Given the description of an element on the screen output the (x, y) to click on. 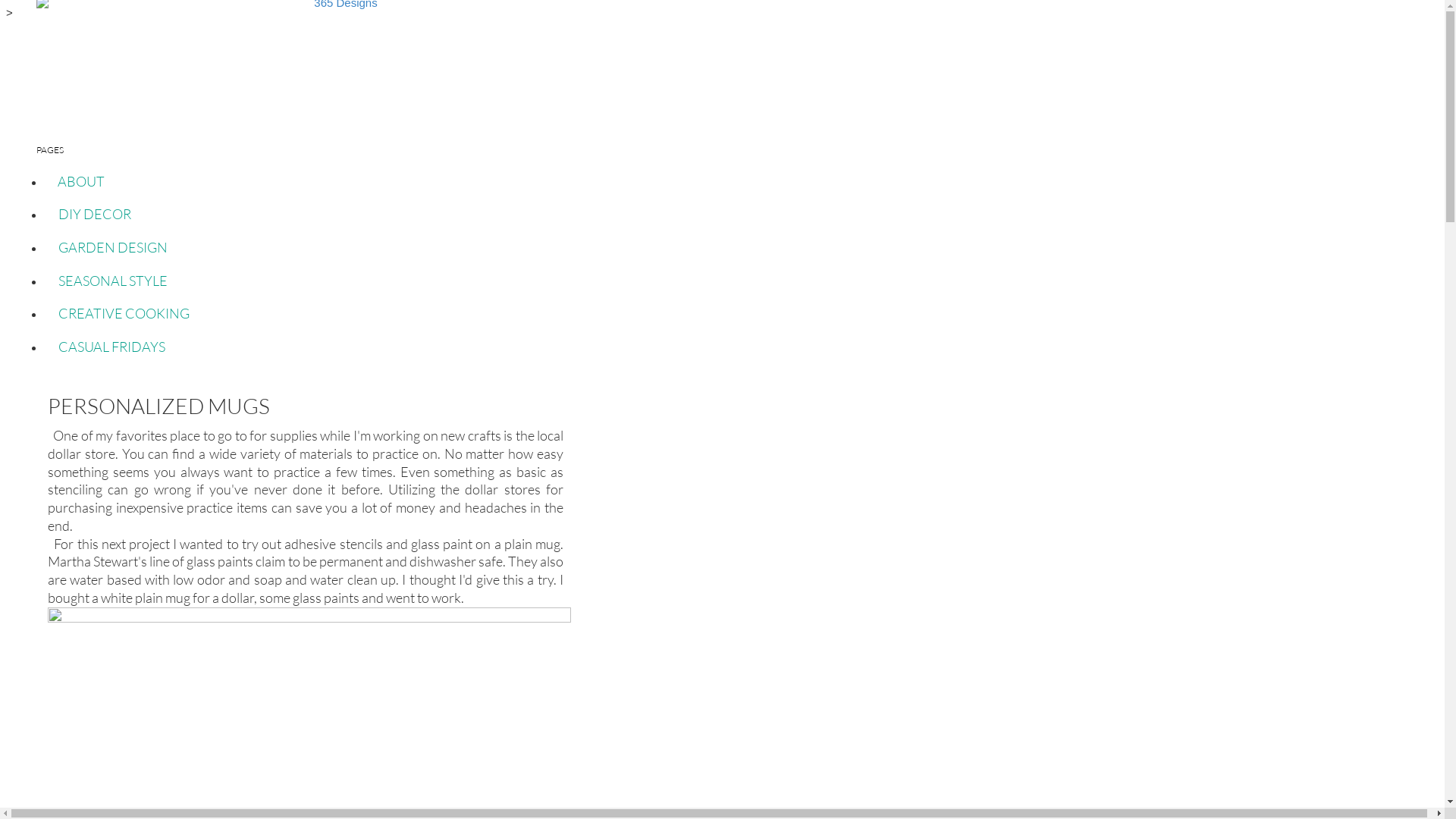
CREATIVE COOKING Element type: text (123, 312)
CASUAL FRIDAYS Element type: text (111, 346)
SEASONAL STYLE Element type: text (112, 280)
ABOUT Element type: text (81, 180)
DIY DECOR Element type: text (94, 214)
GARDEN DESIGN Element type: text (112, 246)
